Given the description of an element on the screen output the (x, y) to click on. 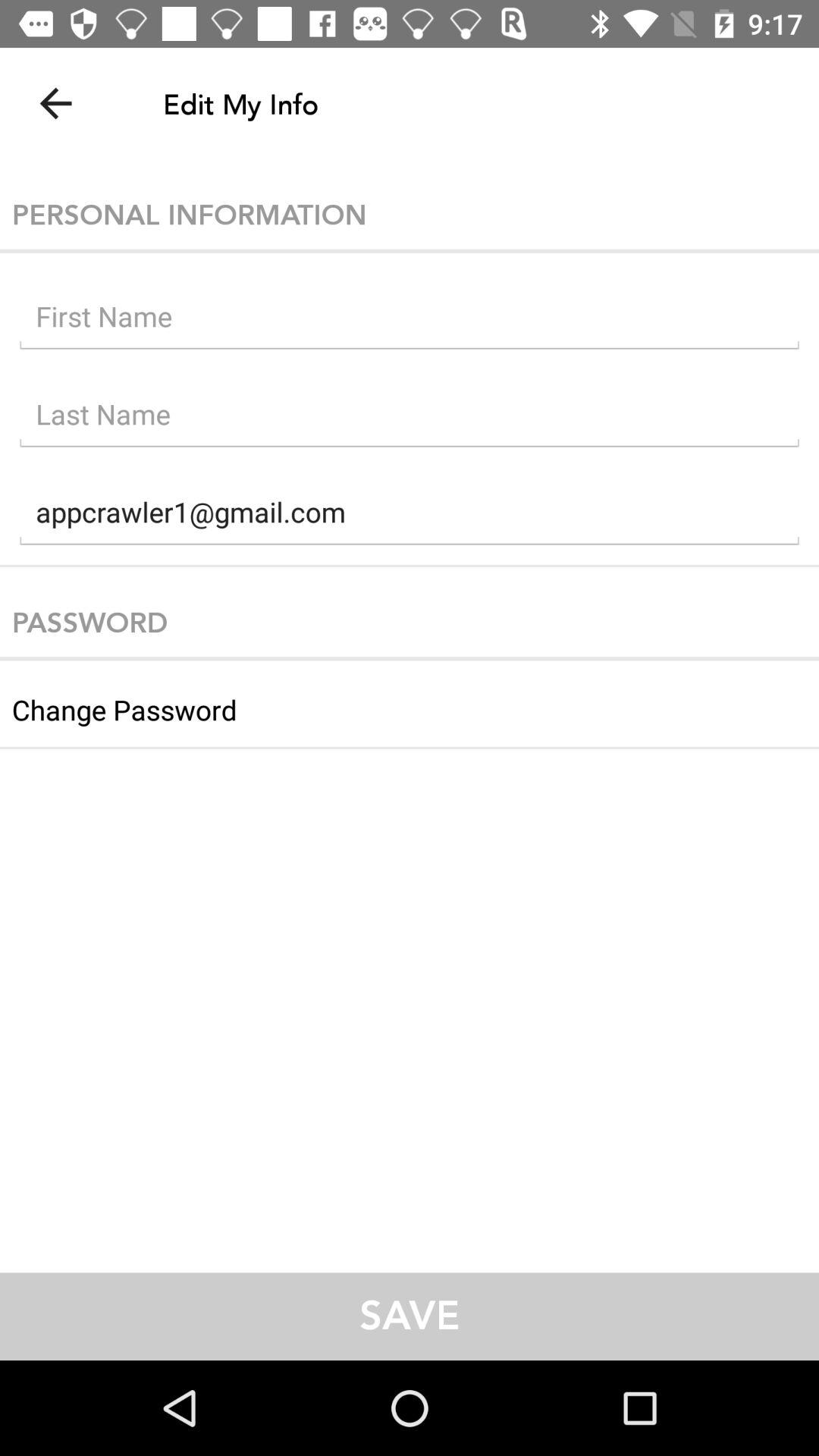
tap the item above the personal information item (55, 103)
